Given the description of an element on the screen output the (x, y) to click on. 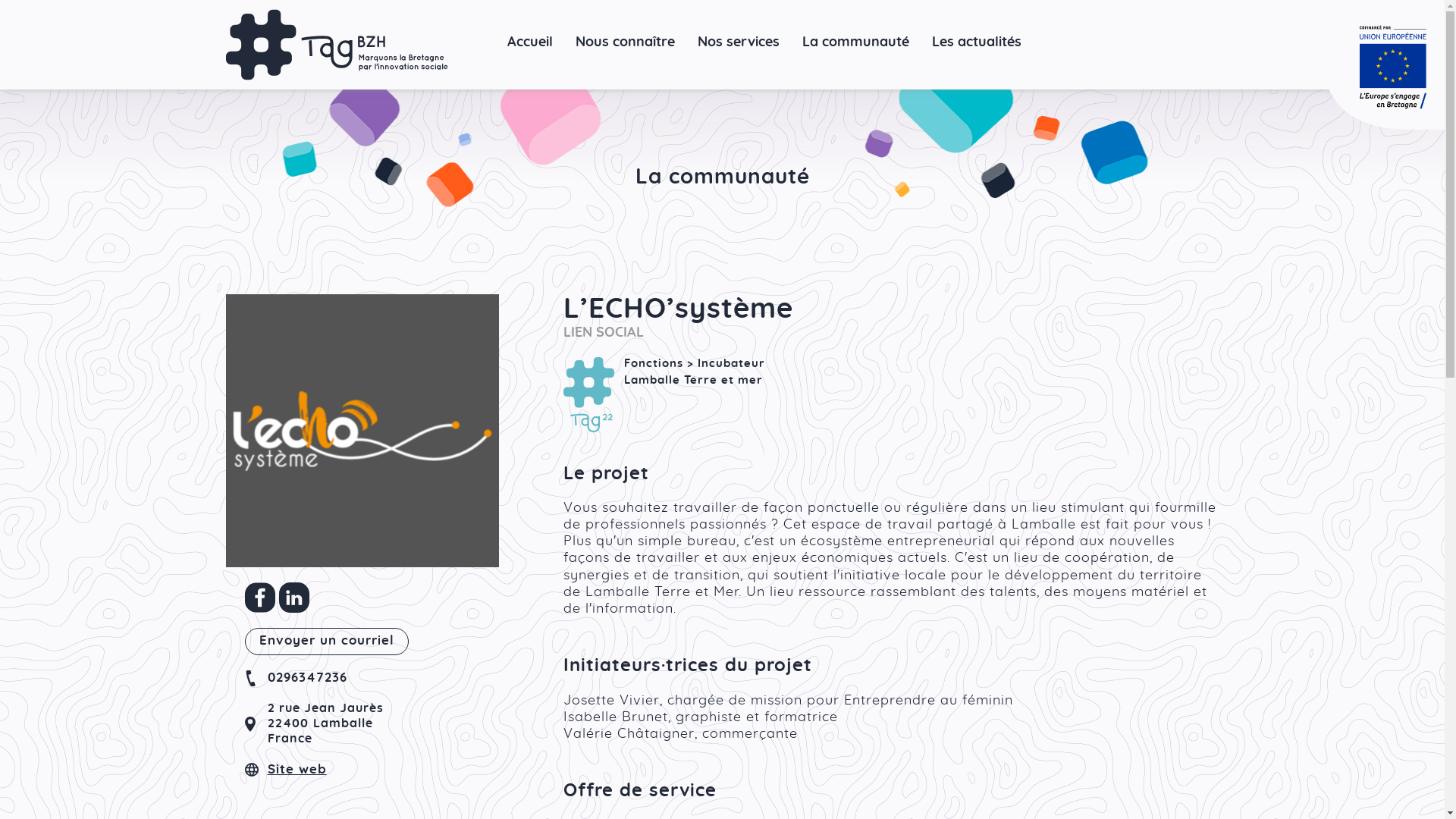
Envoyer un courriel Element type: text (325, 641)
Accueil Element type: hover (336, 44)
Aller au contenu principal Element type: text (0, 0)
Site web Element type: text (296, 769)
Accueil Element type: text (529, 45)
Nos services Element type: text (738, 45)
